Given the description of an element on the screen output the (x, y) to click on. 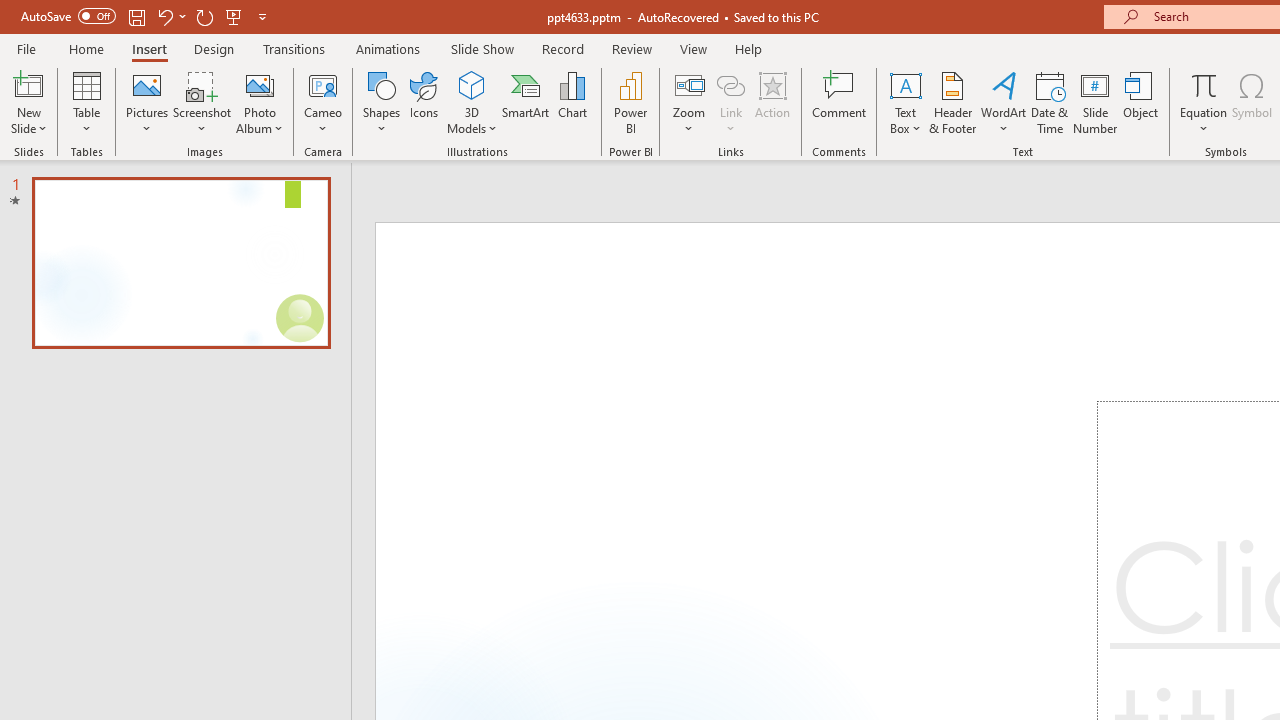
Draw Horizontal Text Box (905, 84)
Cameo (323, 84)
Link (731, 102)
Pictures (147, 102)
Photo Album... (259, 102)
Equation (1203, 84)
WordArt (1004, 102)
